Given the description of an element on the screen output the (x, y) to click on. 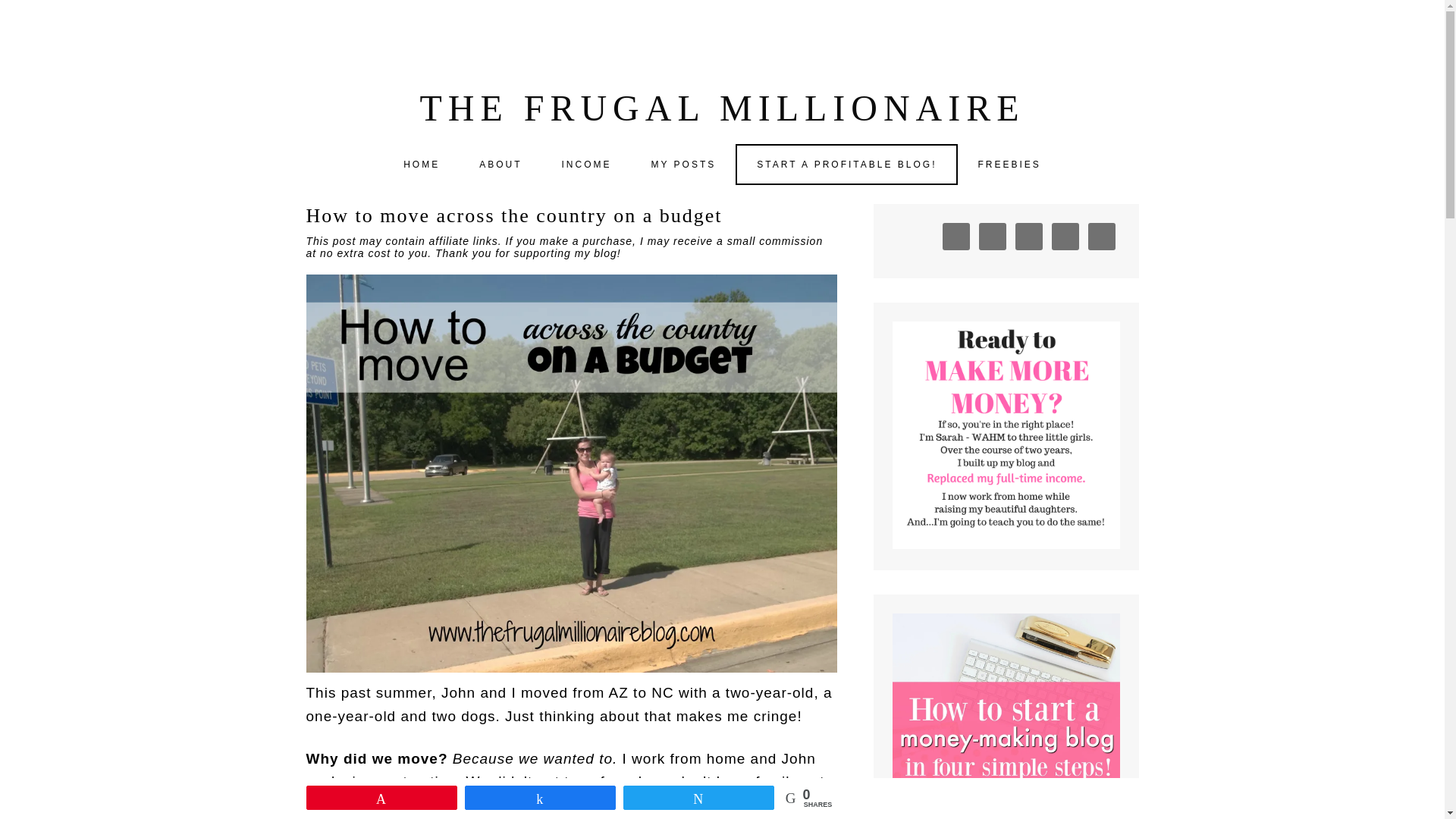
FREEBIES (1008, 164)
START A PROFITABLE BLOG! (846, 164)
THE FRUGAL MILLIONAIRE (721, 107)
HOME (422, 164)
ABOUT (500, 164)
MY POSTS (682, 164)
INCOME (585, 164)
